Given the description of an element on the screen output the (x, y) to click on. 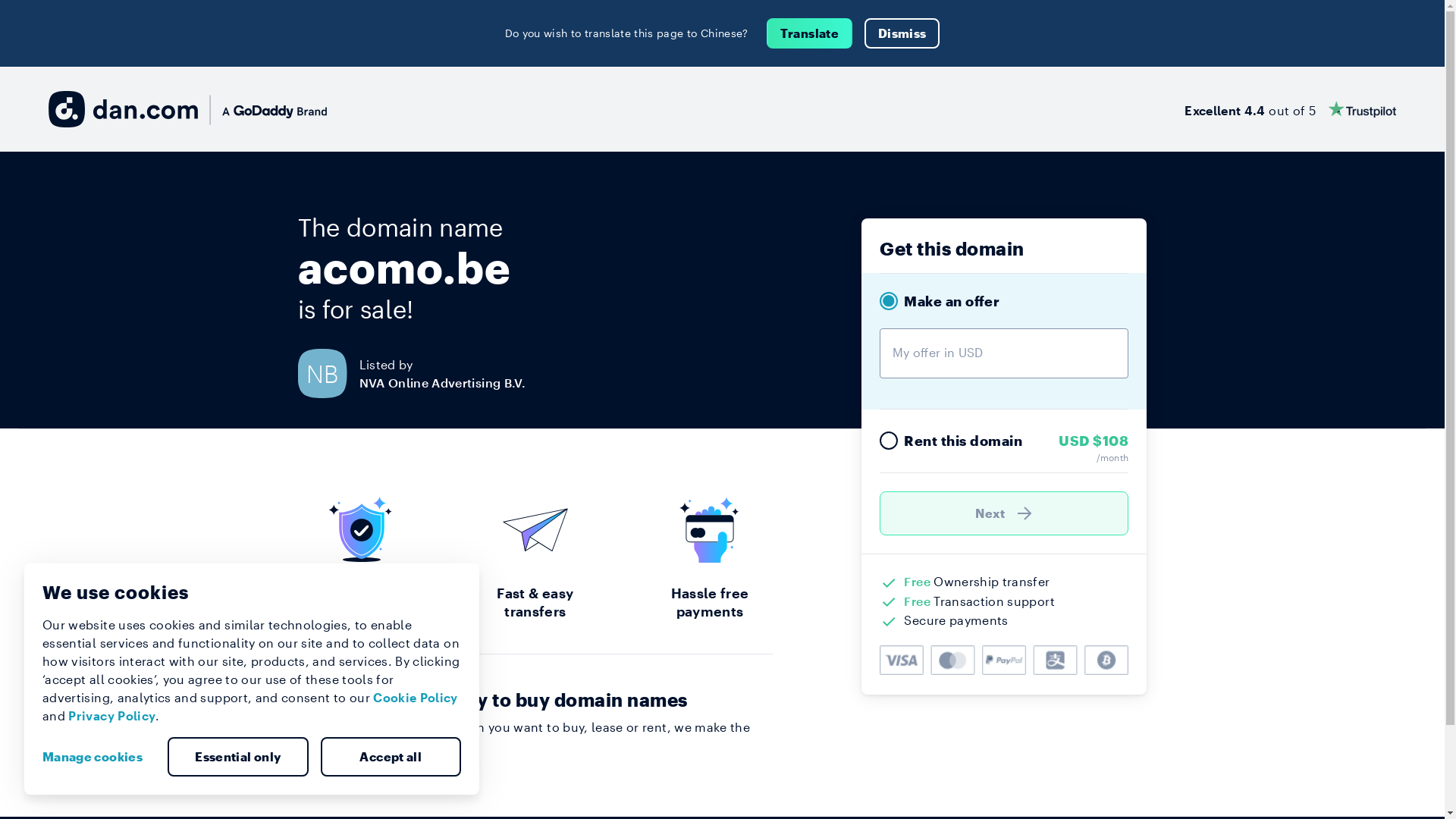
Cookie Policy Element type: text (415, 697)
Manage cookies Element type: text (98, 756)
Next
) Element type: text (1003, 513)
Accept all Element type: text (390, 756)
Dismiss Element type: text (901, 33)
Excellent 4.4 out of 5 Element type: text (1290, 109)
Essential only Element type: text (237, 756)
Privacy Policy Element type: text (111, 715)
Translate Element type: text (809, 33)
